Given the description of an element on the screen output the (x, y) to click on. 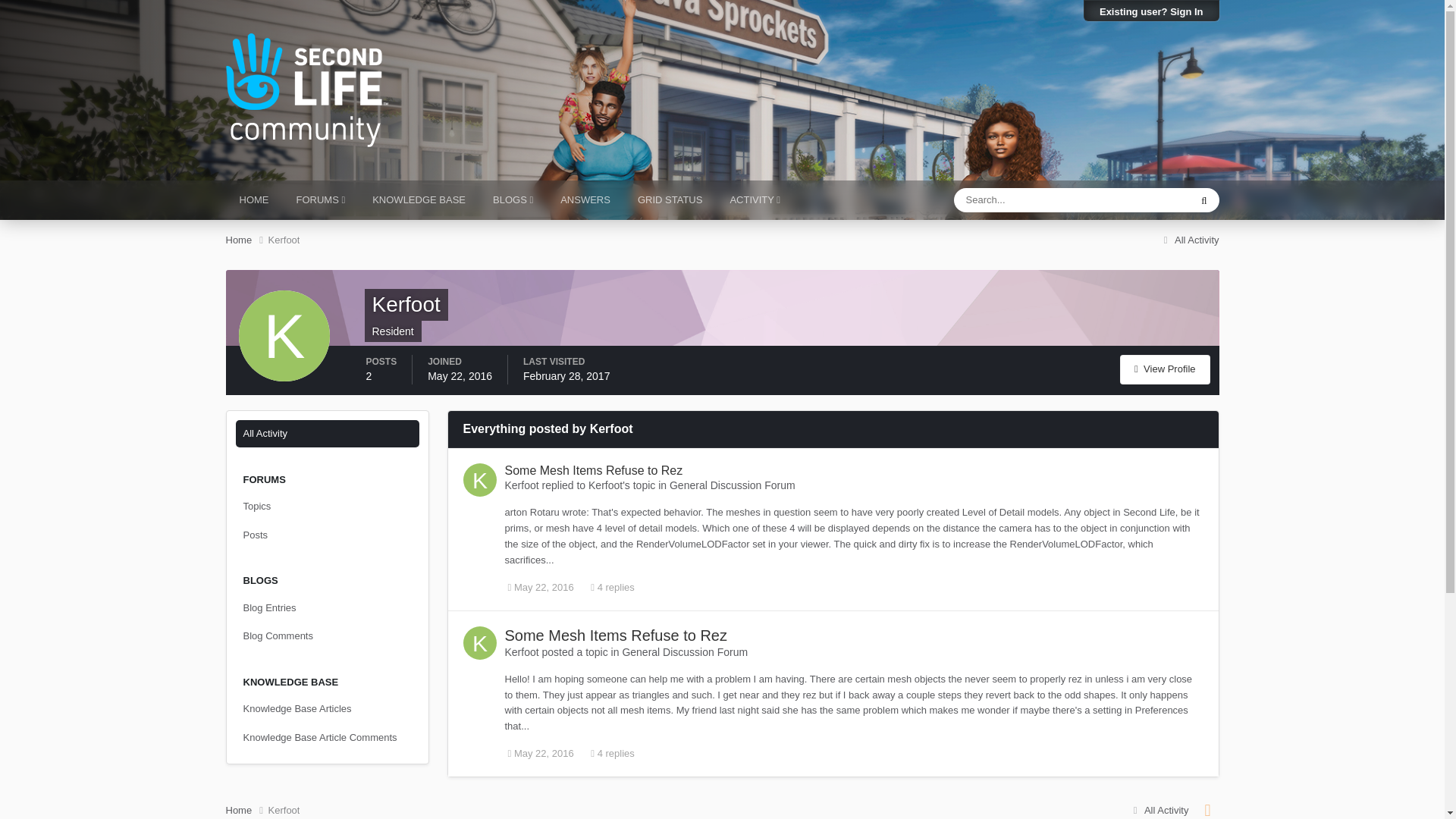
FORUMS (320, 200)
BLOGS (513, 200)
Existing user? Sign In (1151, 11)
Kerfoot's Profile (1164, 369)
GRID STATUS (670, 200)
KNOWLEDGE BASE (418, 200)
All Activity (1188, 239)
Go to Kerfoot's profile (521, 652)
ACTIVITY (754, 200)
Go to Kerfoot's profile (605, 485)
